Given the description of an element on the screen output the (x, y) to click on. 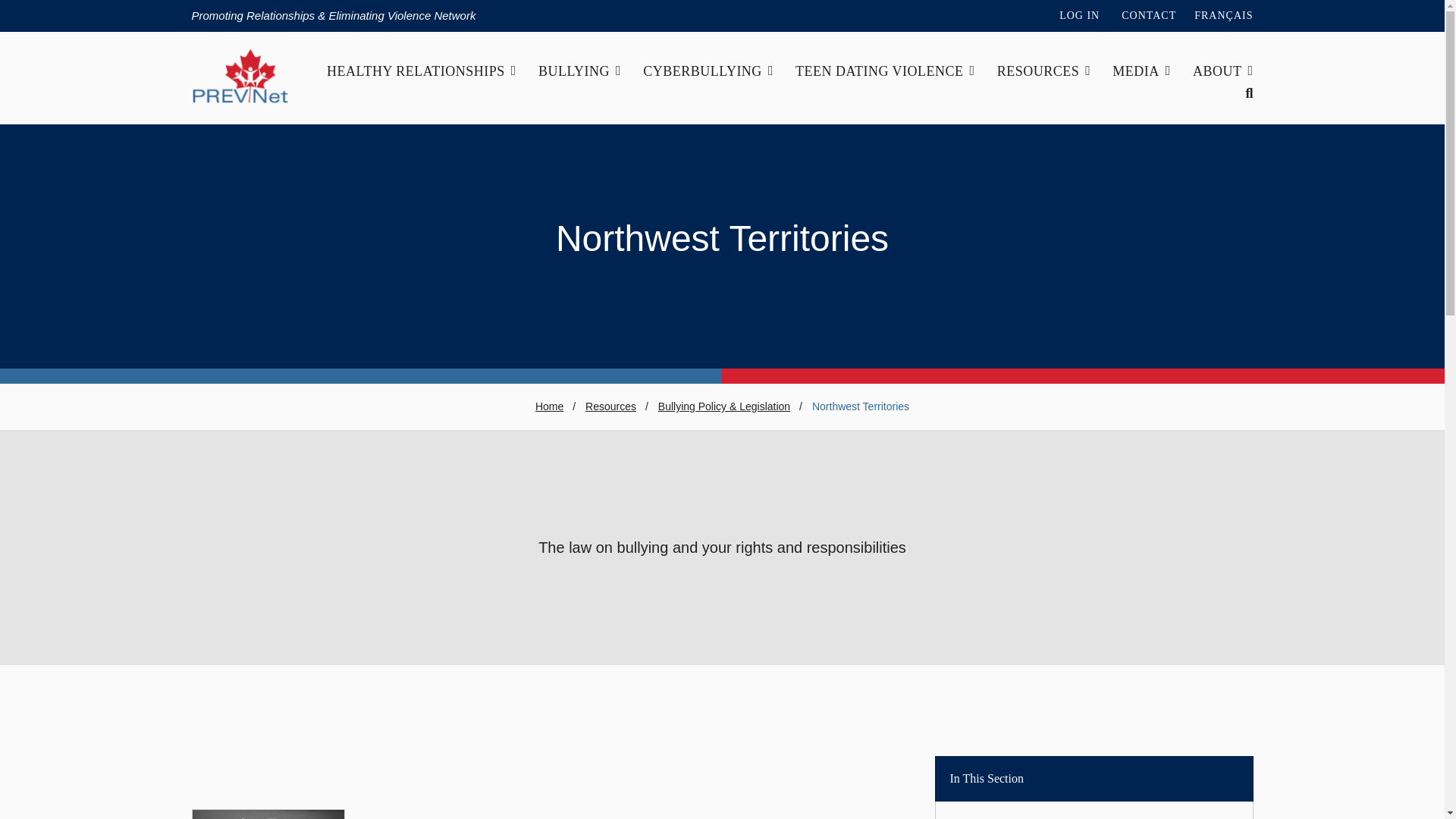
CONTACT (1148, 15)
Home (239, 102)
LOG IN (1079, 15)
